Given the description of an element on the screen output the (x, y) to click on. 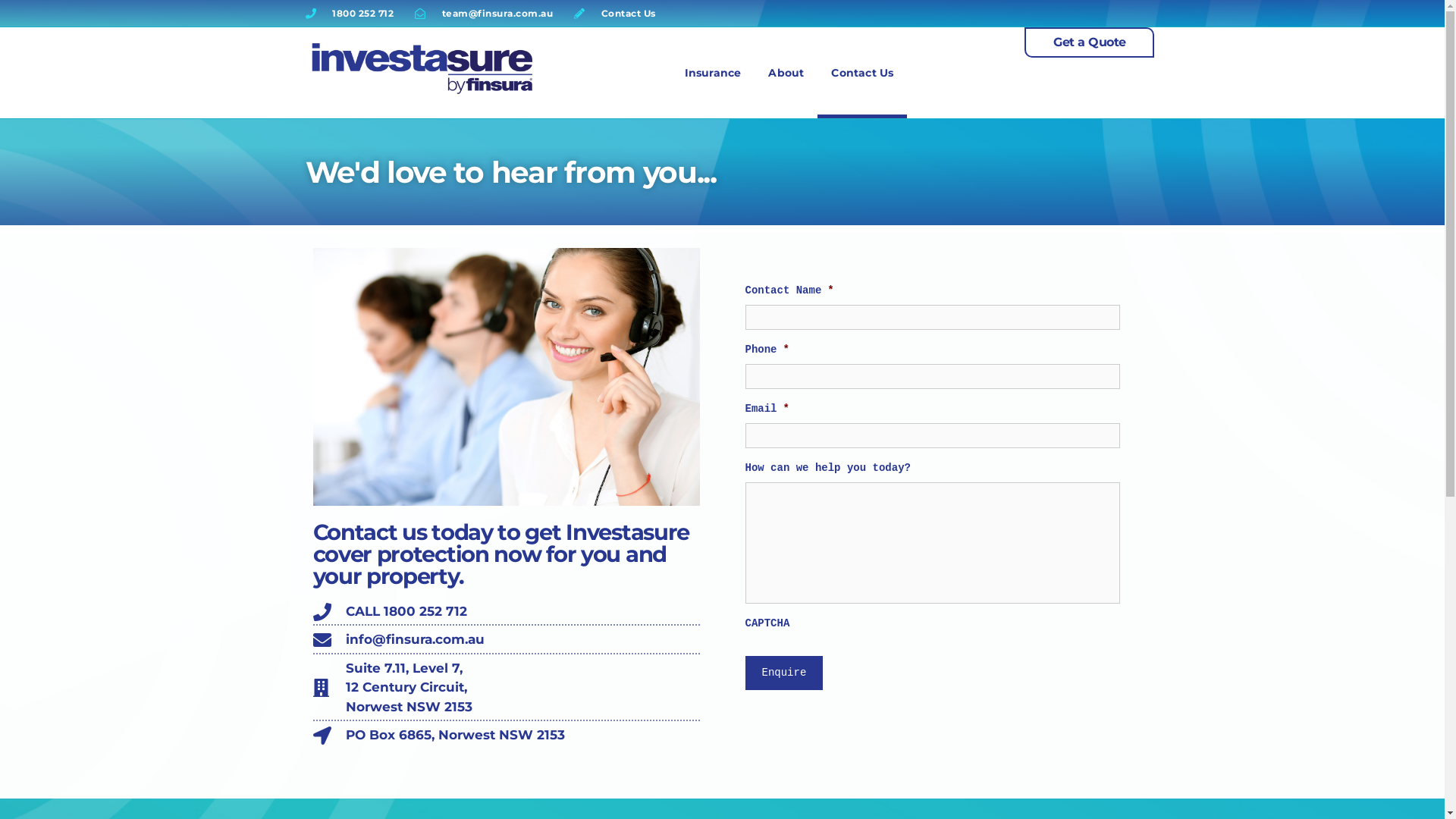
1800 252 712 Element type: text (348, 12)
Contact Us Element type: text (614, 12)
team@finsura.com.au Element type: text (483, 12)
Enquire Element type: text (783, 672)
About Element type: text (785, 72)
Insurance Element type: text (713, 72)
Contact Us Element type: text (861, 72)
CALL 1800 252 712 Element type: text (505, 611)
info@finsura.com.au Element type: text (505, 639)
Get a Quote Element type: text (1089, 42)
